Given the description of an element on the screen output the (x, y) to click on. 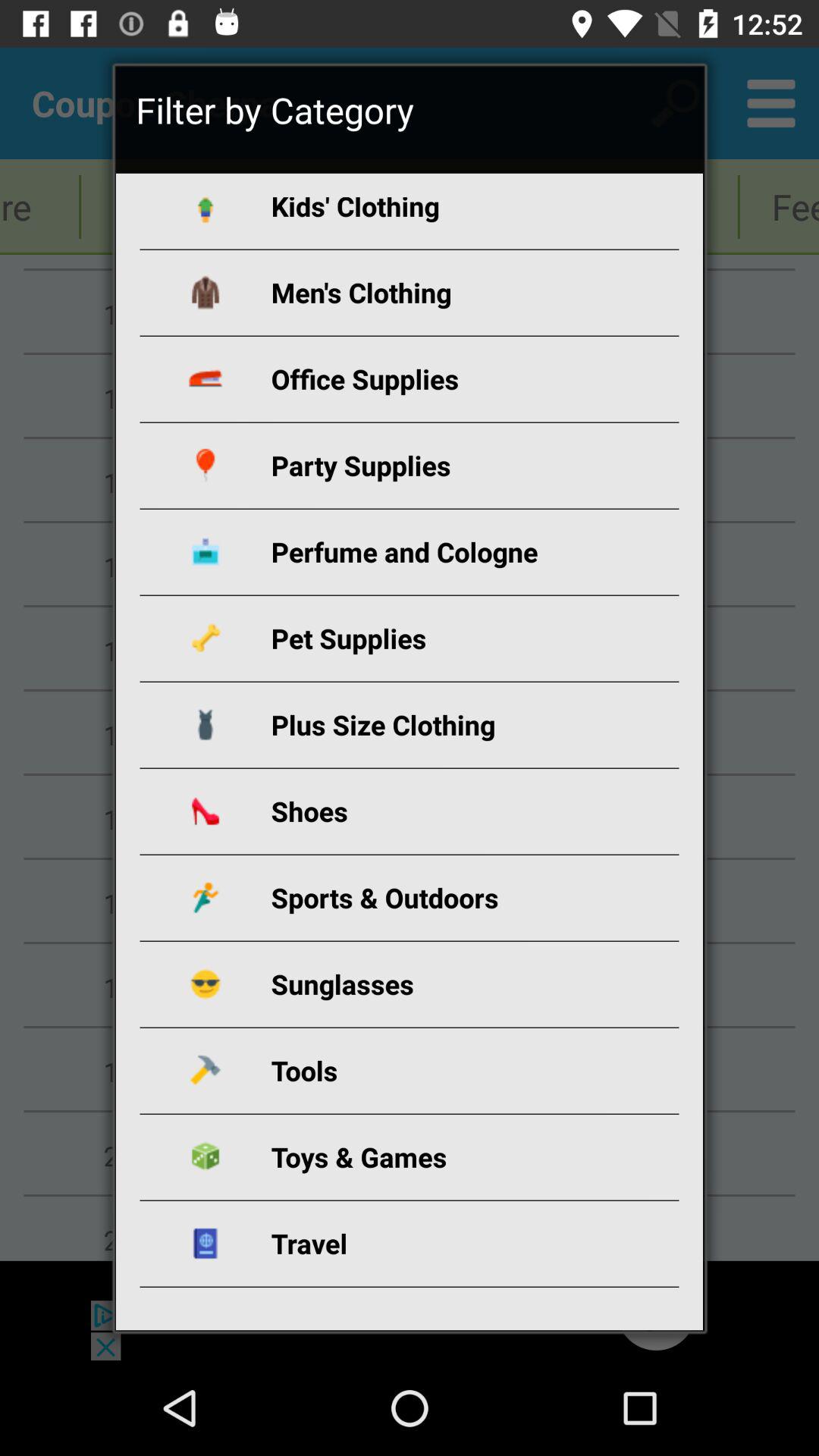
swipe to the plus size clothing app (427, 724)
